Given the description of an element on the screen output the (x, y) to click on. 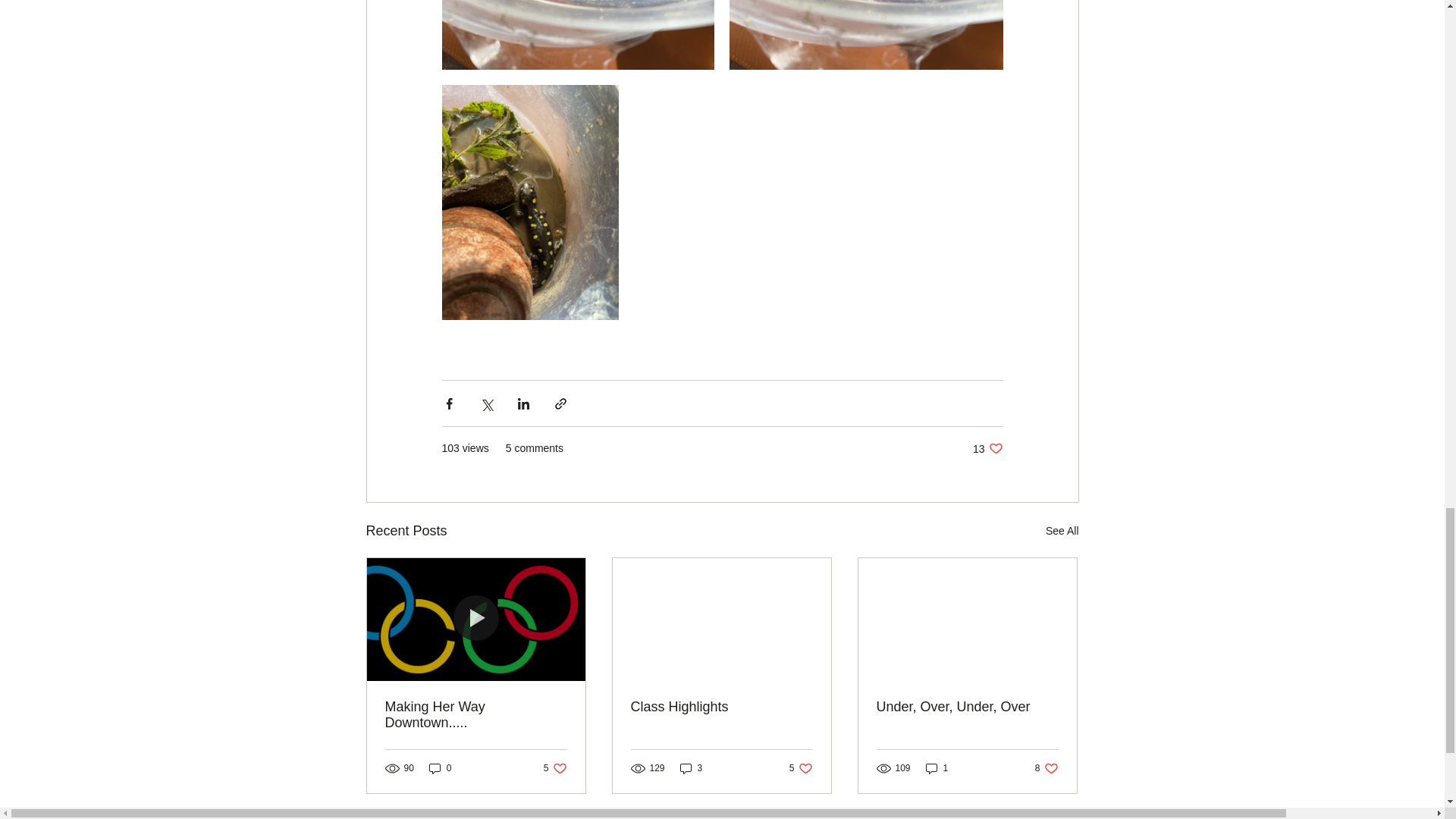
Making Her Way Downtown..... (476, 715)
Under, Over, Under, Over (967, 706)
1 (937, 768)
0 (440, 768)
Class Highlights (721, 706)
3 (555, 768)
